Given the description of an element on the screen output the (x, y) to click on. 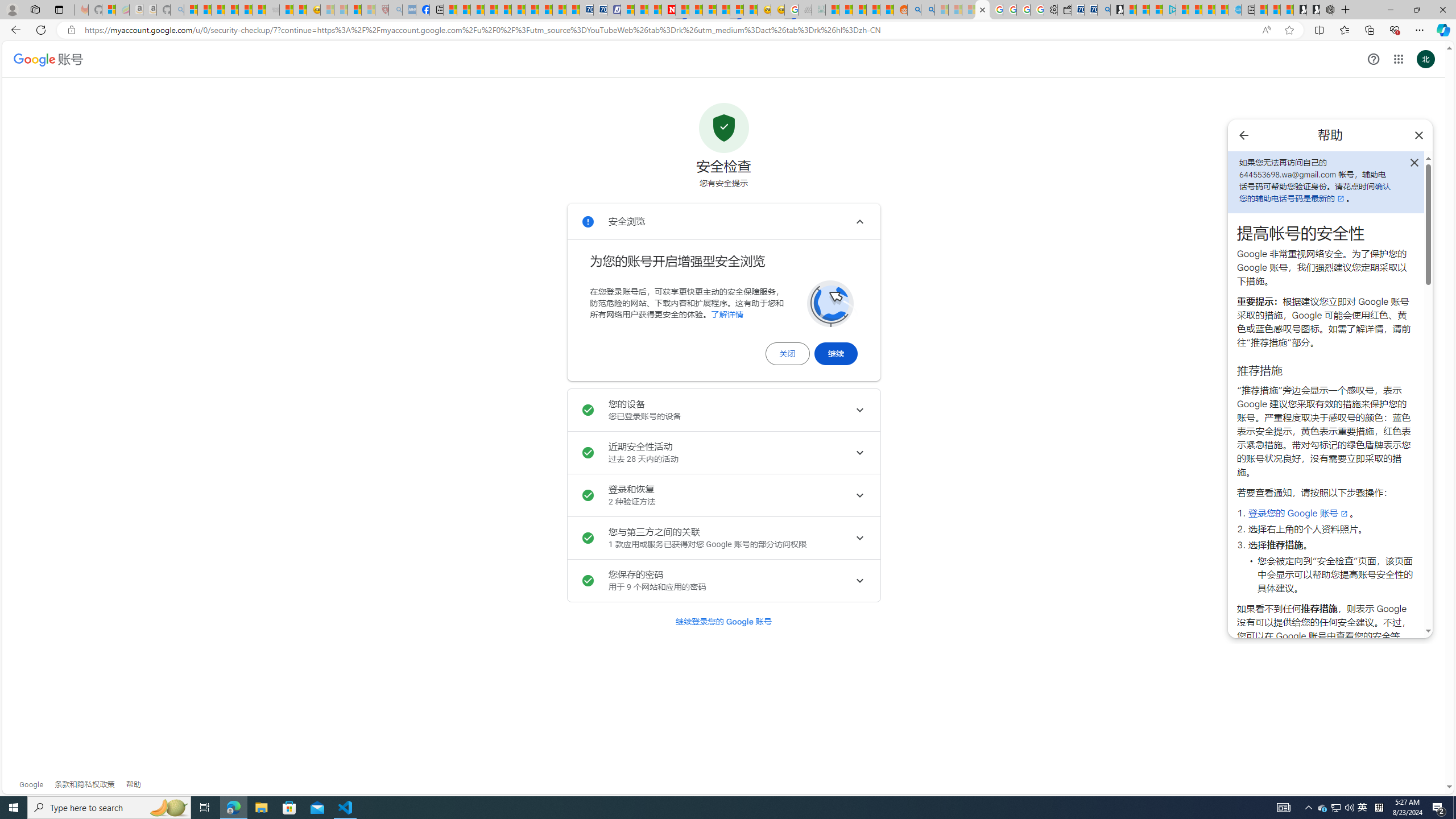
Bing Real Estate - Home sales and rental listings (1103, 9)
Cheap Hotels - Save70.com (599, 9)
